Given the description of an element on the screen output the (x, y) to click on. 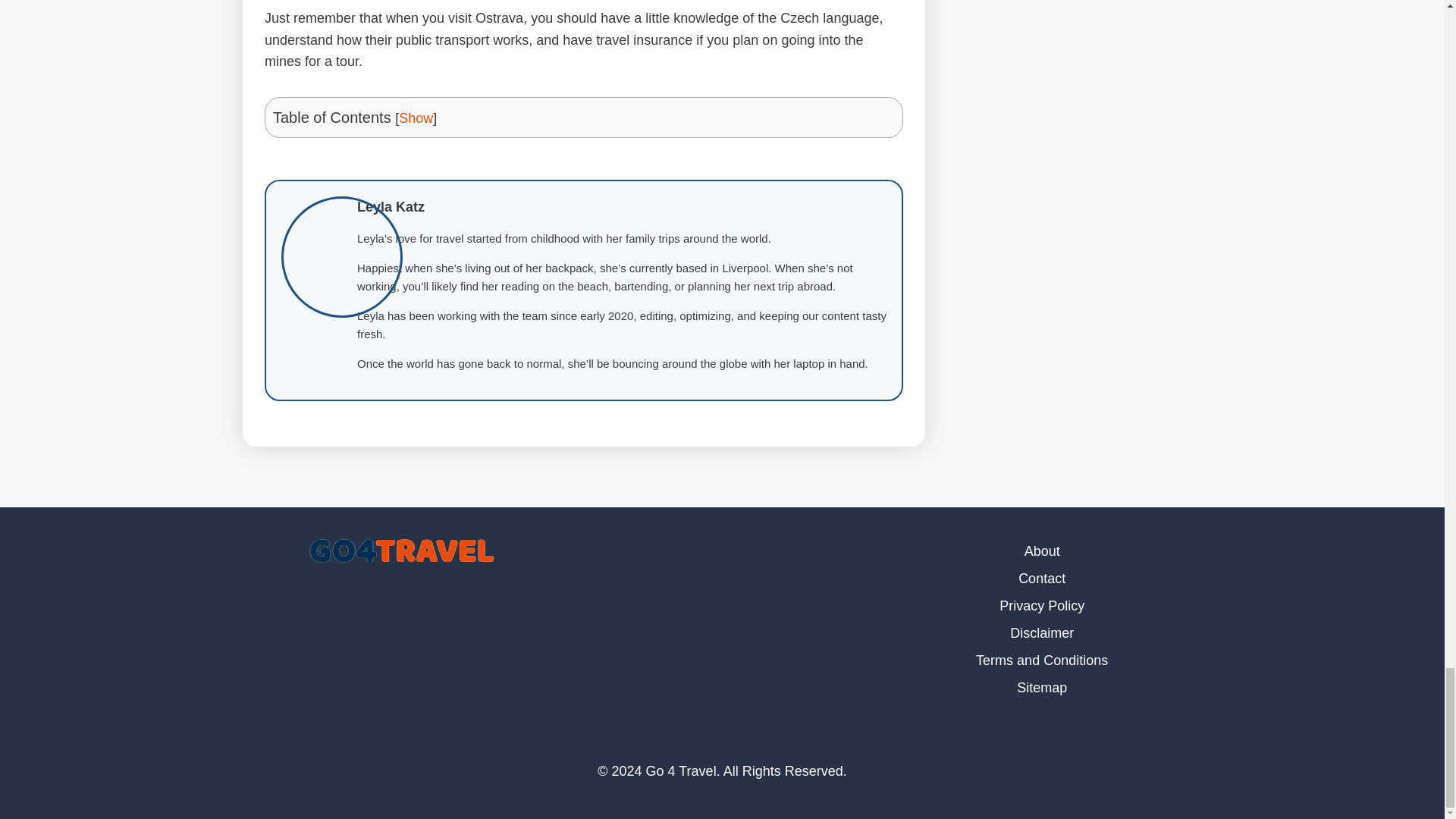
Posts by Leyla Katz (390, 206)
Show (415, 118)
